Given the description of an element on the screen output the (x, y) to click on. 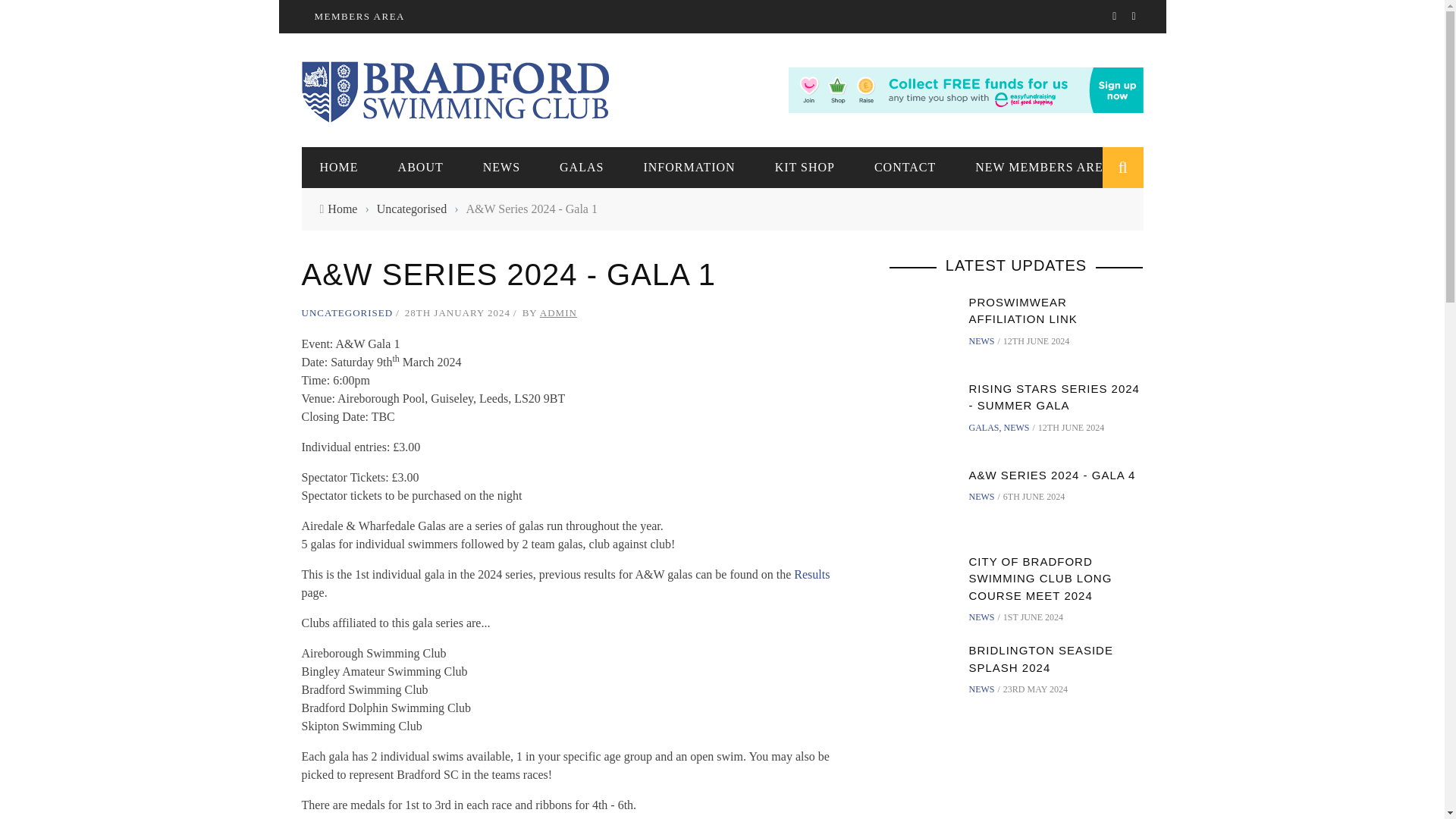
MEMBERS AREA (359, 16)
